Given the description of an element on the screen output the (x, y) to click on. 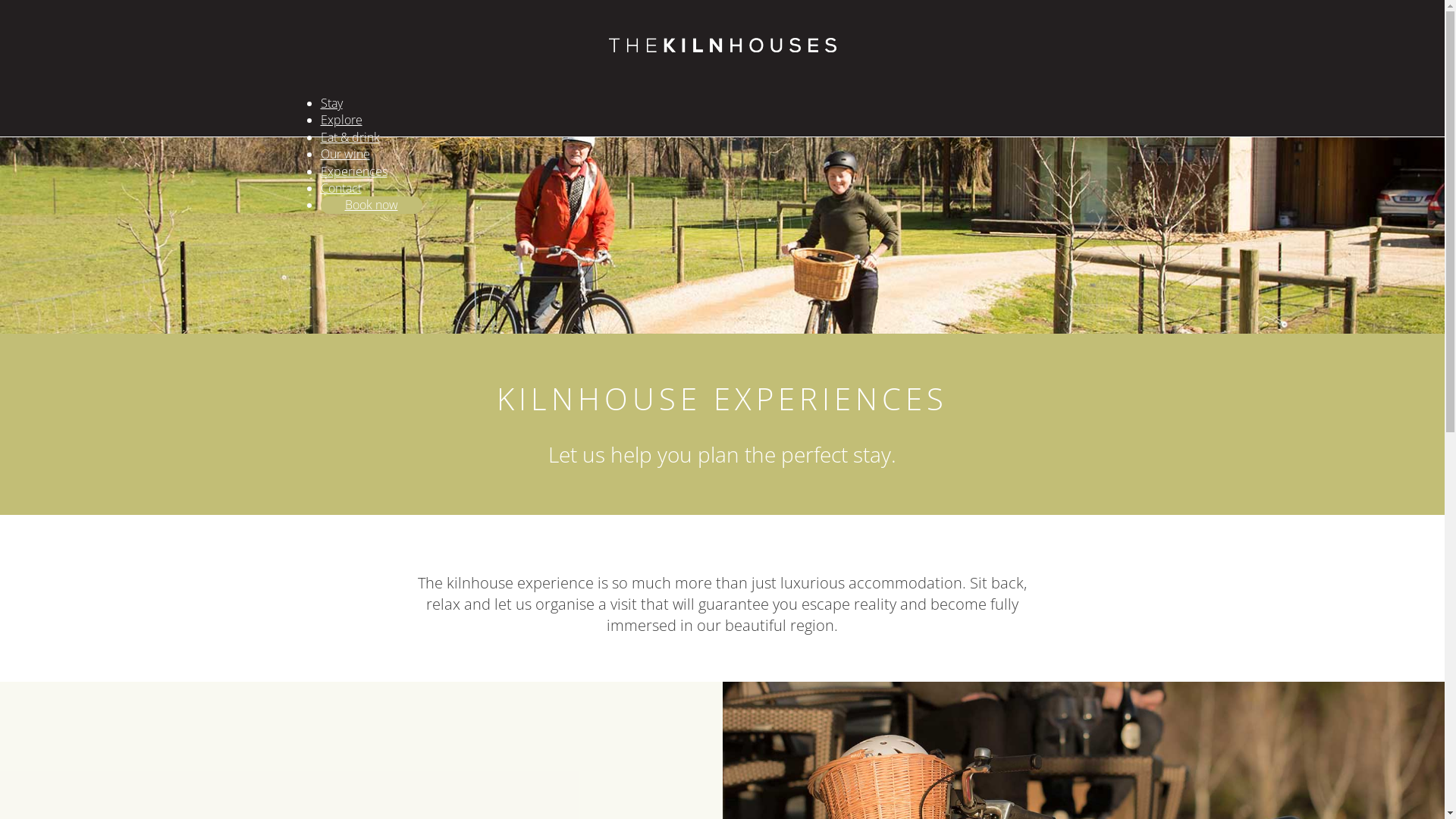
Experiences Element type: text (353, 171)
Explore Element type: text (340, 119)
Our wine Element type: text (344, 153)
Contact Element type: text (340, 187)
Book now Element type: text (370, 204)
Stay Element type: text (331, 102)
Eat & drink Element type: text (349, 136)
